Given the description of an element on the screen output the (x, y) to click on. 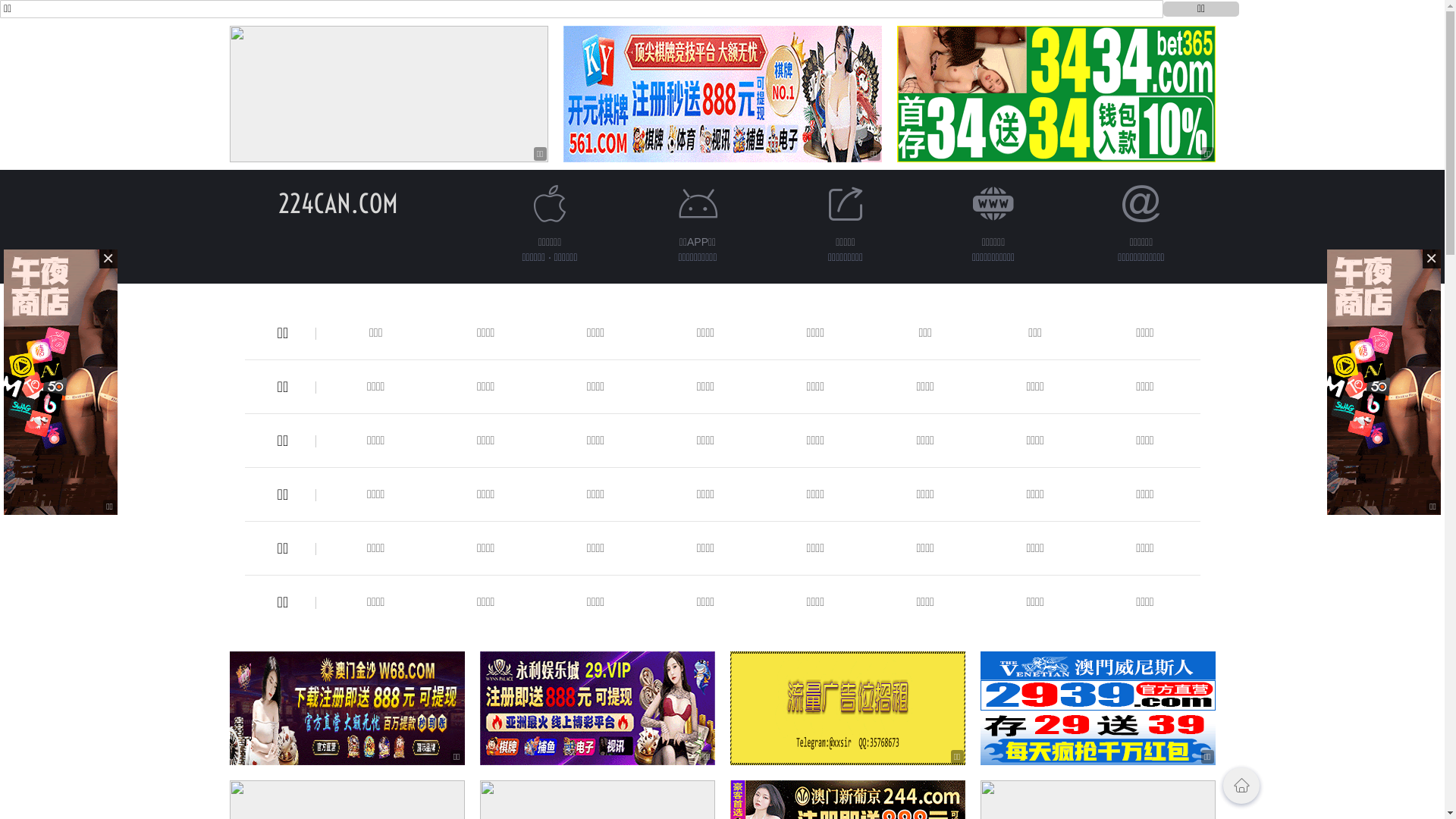
224CAN.COM Element type: text (337, 203)
